Given the description of an element on the screen output the (x, y) to click on. 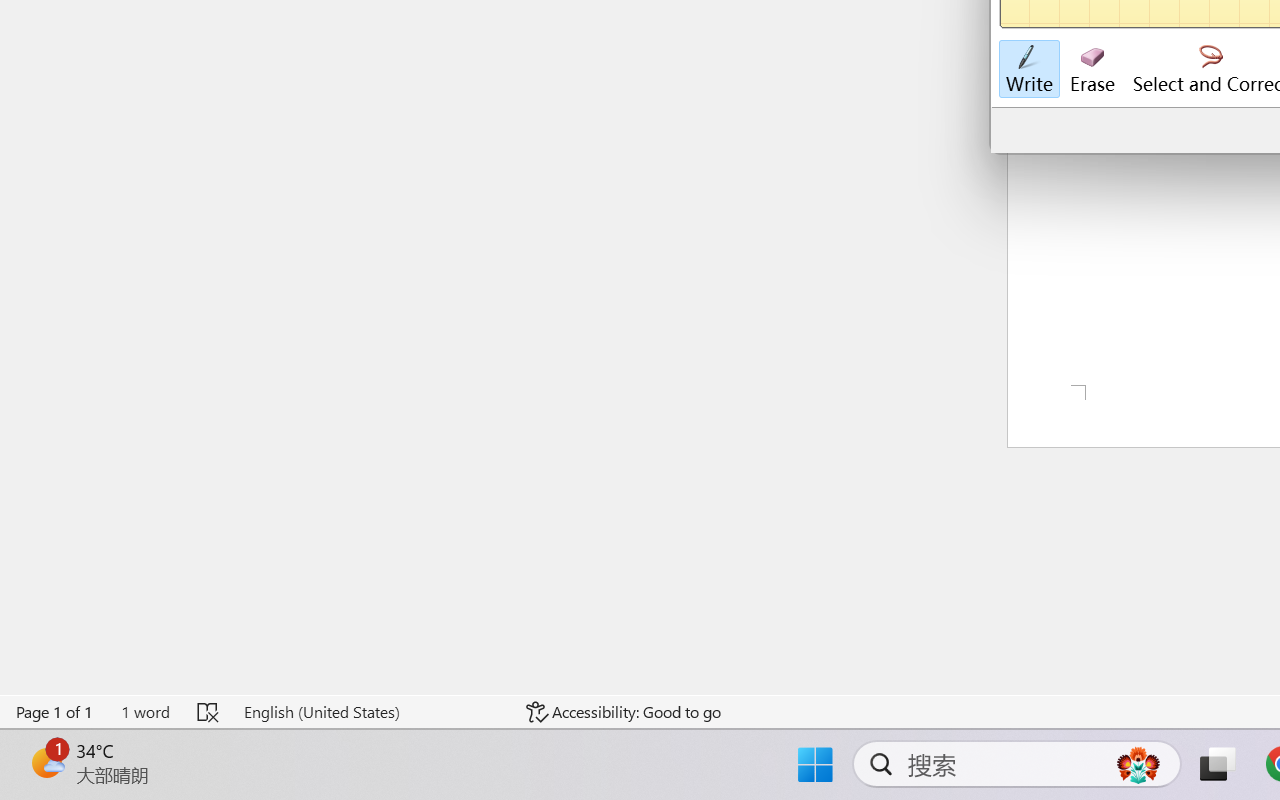
Erase (1092, 69)
Write (1028, 69)
